Given the description of an element on the screen output the (x, y) to click on. 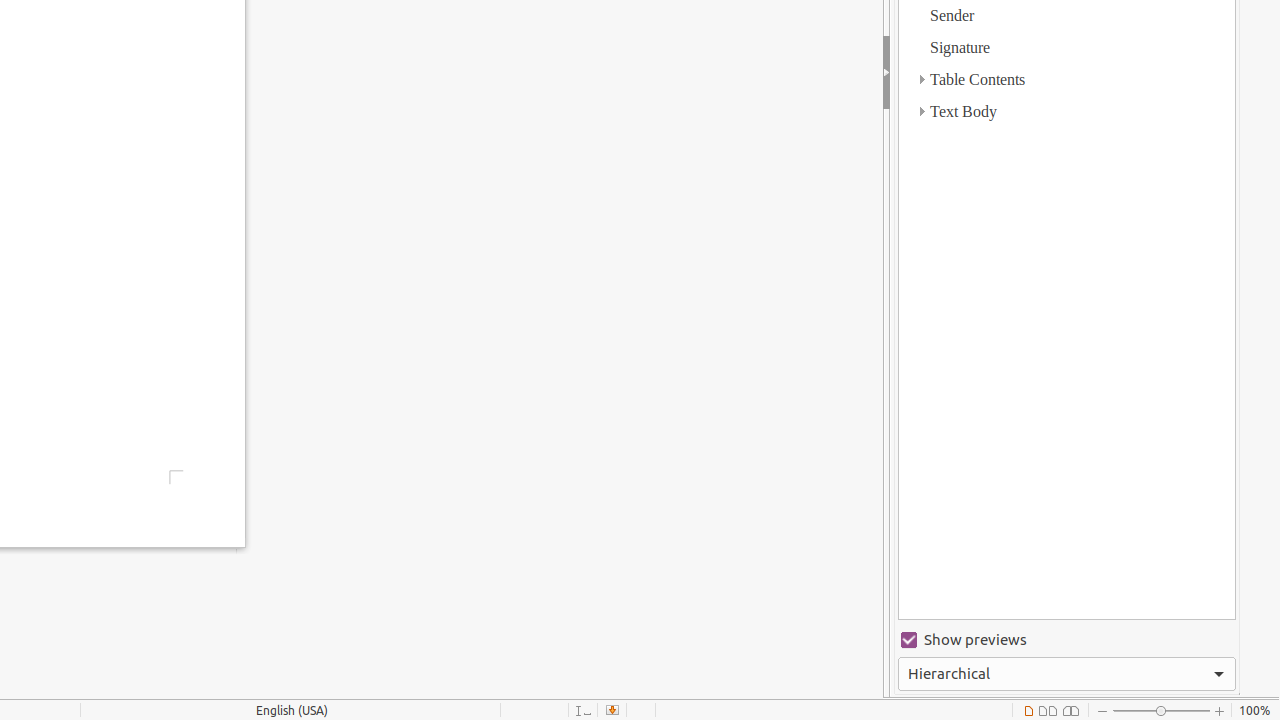
Show previews Element type: check-box (1067, 640)
